Given the description of an element on the screen output the (x, y) to click on. 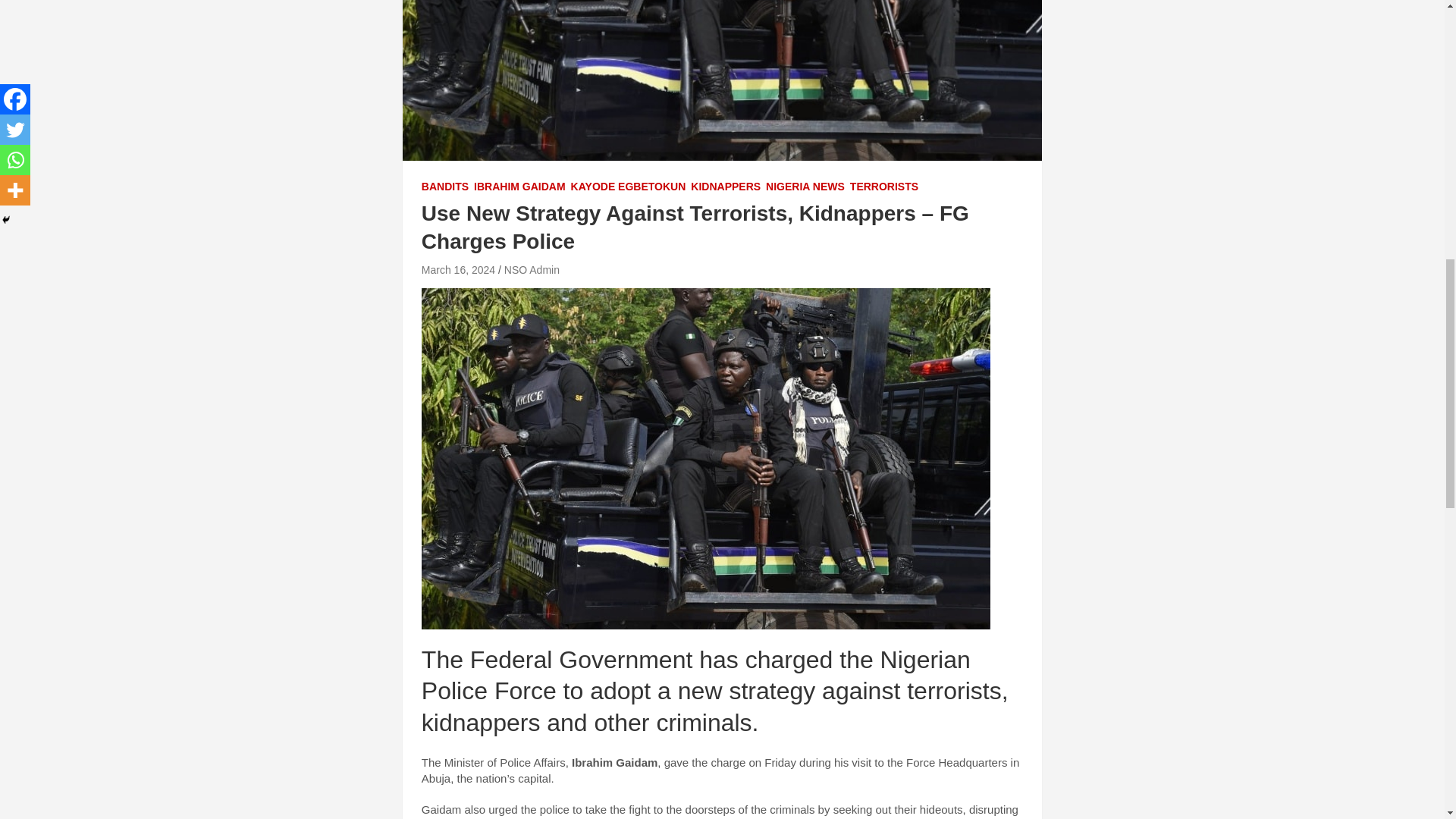
NSO Admin (531, 269)
BANDITS (445, 186)
KIDNAPPERS (725, 186)
March 16, 2024 (458, 269)
TERRORISTS (884, 186)
IBRAHIM GAIDAM (520, 186)
NIGERIA NEWS (804, 186)
KAYODE EGBETOKUN (627, 186)
